Given the description of an element on the screen output the (x, y) to click on. 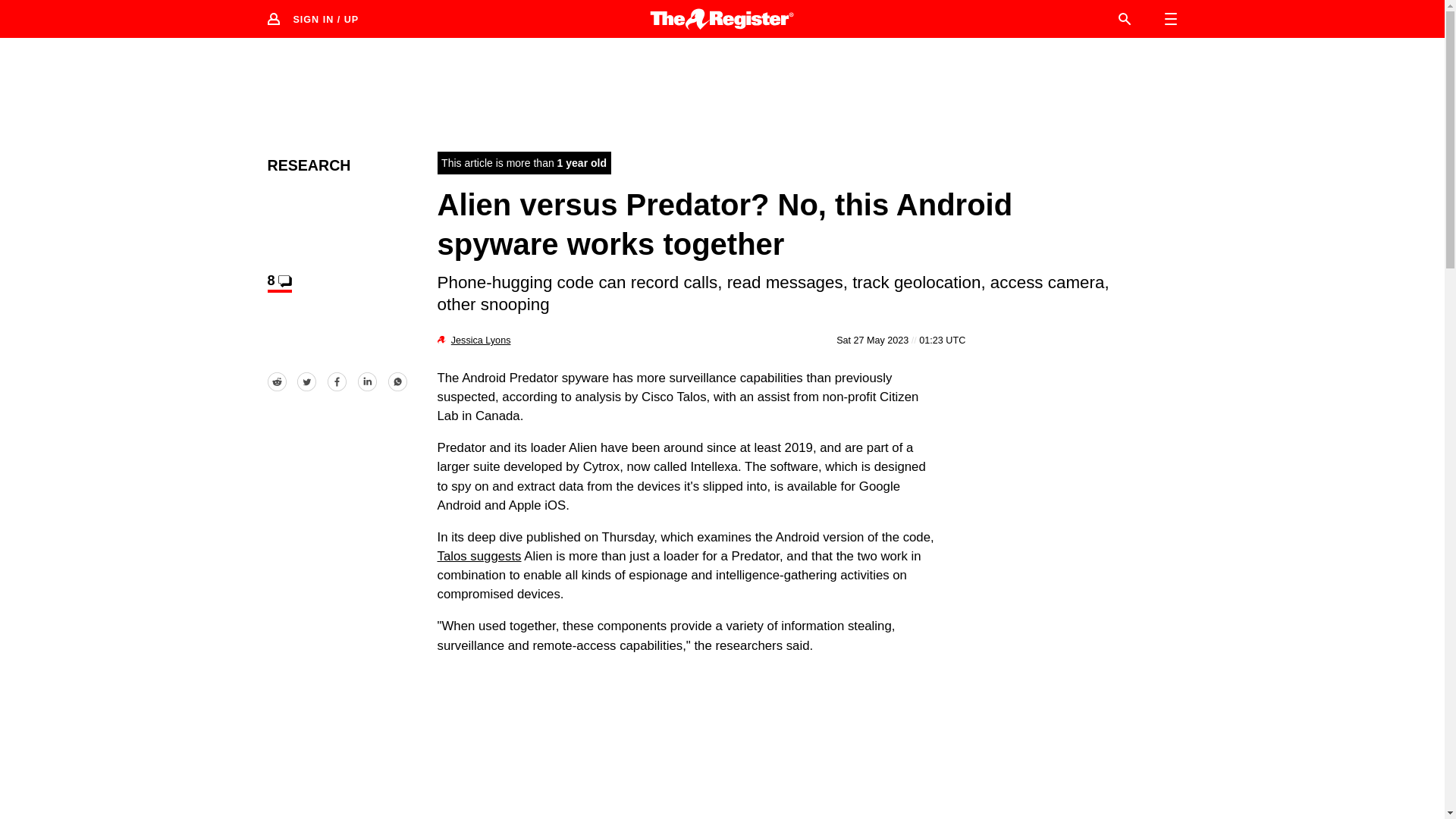
Read more by this author (481, 340)
View comments on this article (278, 282)
